Given the description of an element on the screen output the (x, y) to click on. 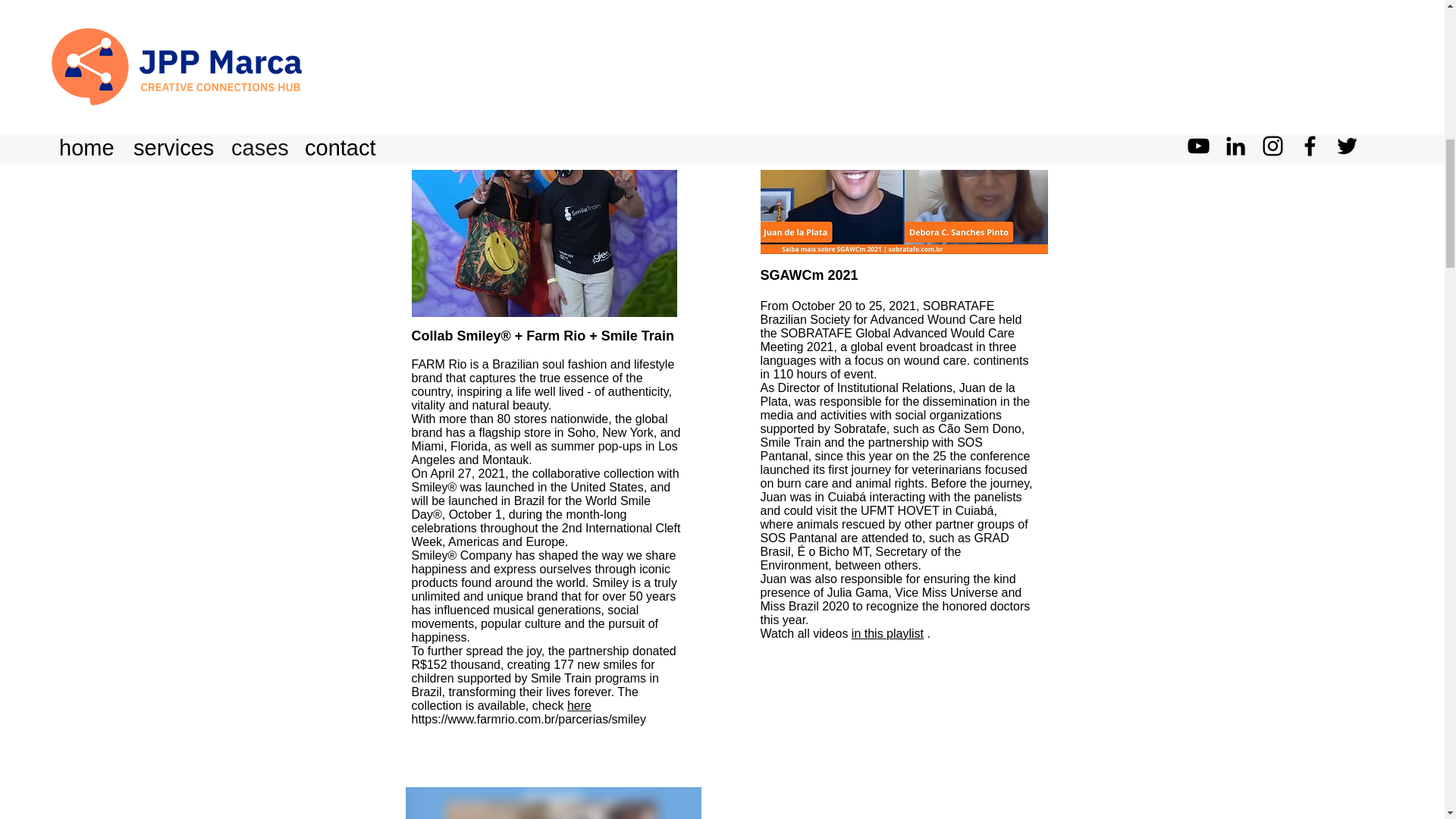
Atados (948, 14)
Muda Cultural (906, 29)
Watch the aftermovie here. (483, 42)
Watch the activity videos here. (851, 61)
in this playlist (887, 633)
Biodevice Medical (585, 4)
Aroa Biosurgery Limited. (494, 15)
here (579, 705)
